Given the description of an element on the screen output the (x, y) to click on. 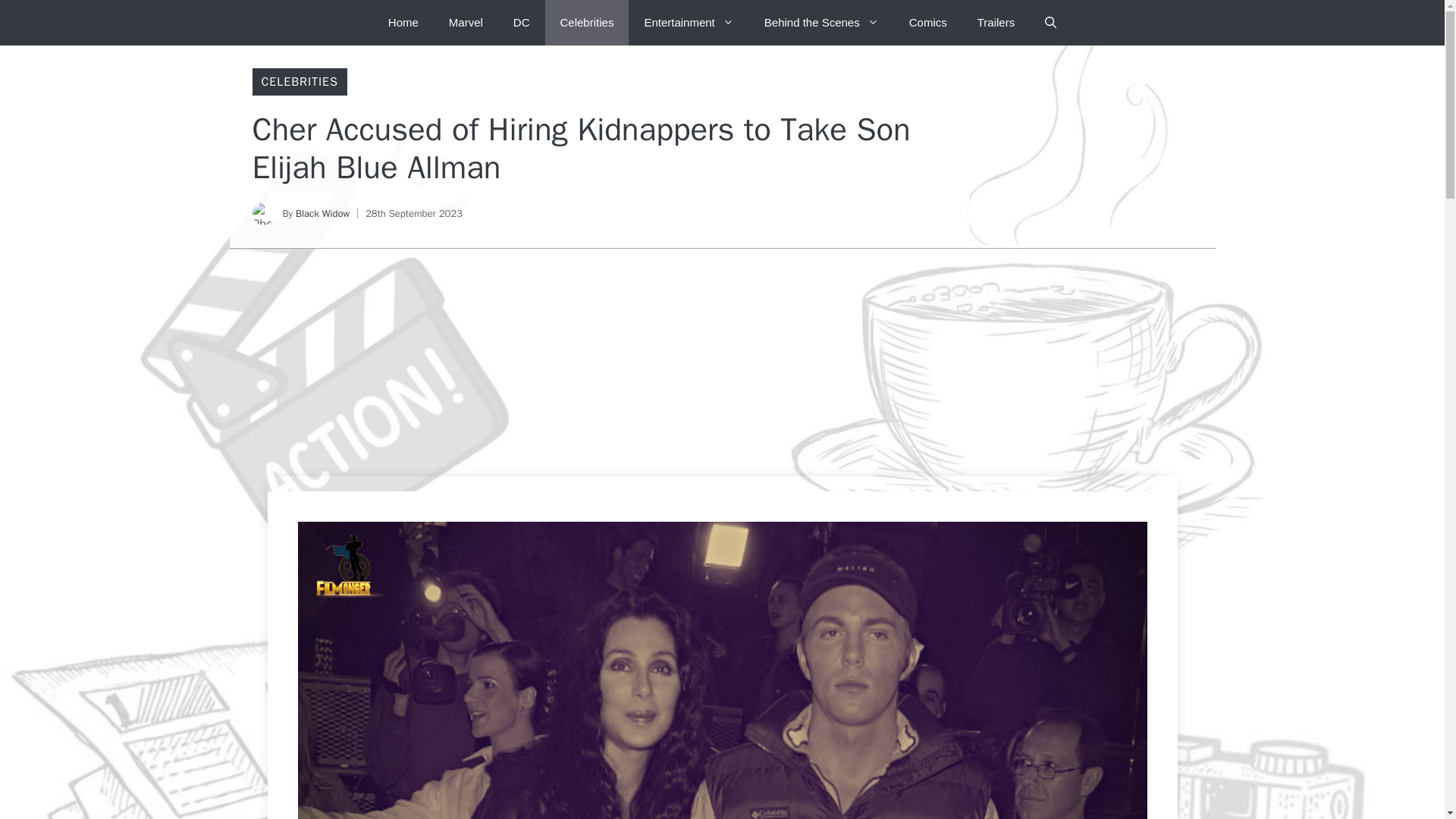
Home (402, 22)
DC (520, 22)
Trailers (995, 22)
Marvel (465, 22)
Celebrities (586, 22)
Black Widow (322, 213)
CELEBRITIES (298, 81)
Entertainment (688, 22)
Behind the Scenes (821, 22)
